Given the description of an element on the screen output the (x, y) to click on. 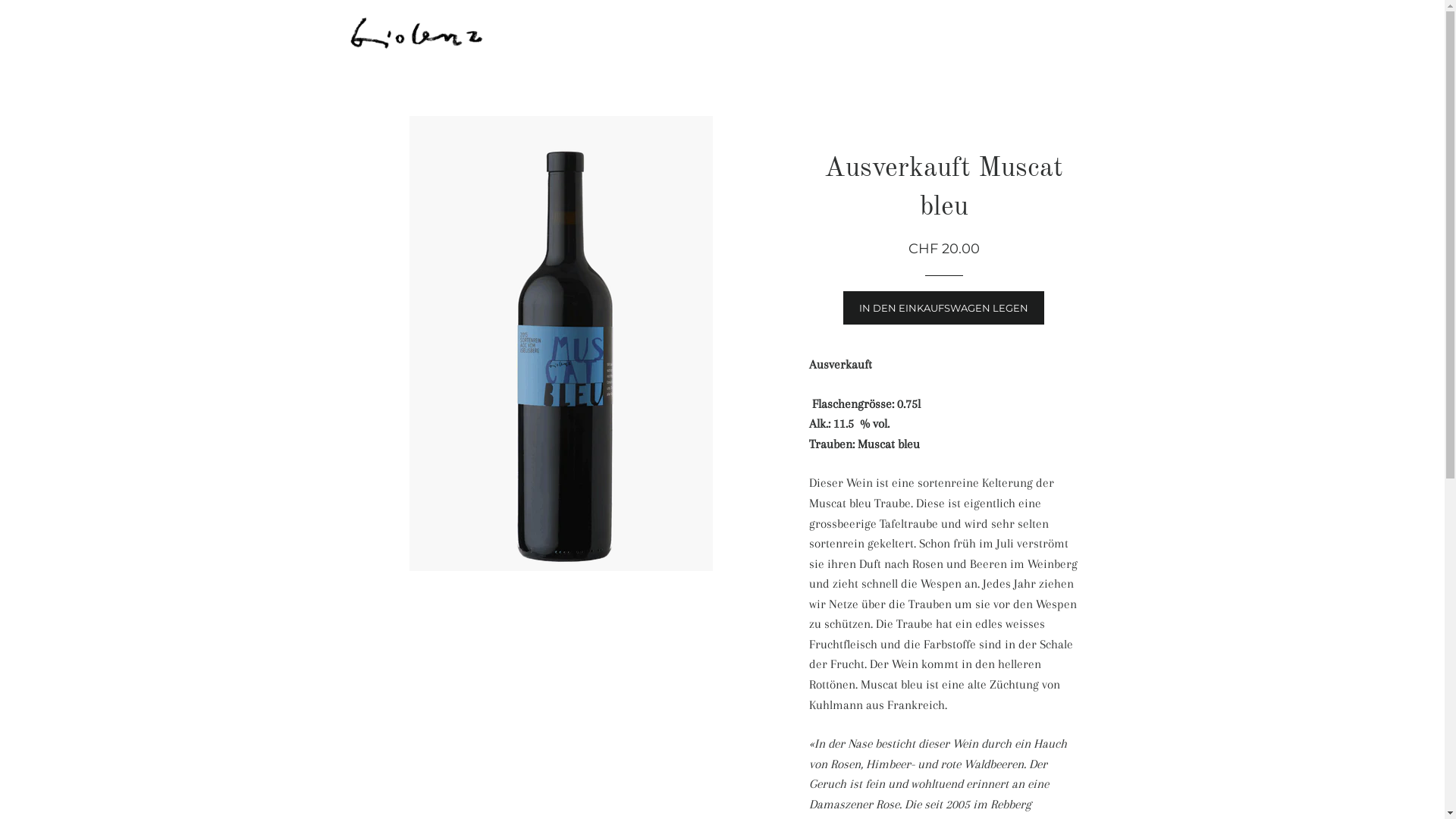
IN DEN EINKAUFSWAGEN LEGEN Element type: text (943, 307)
